Given the description of an element on the screen output the (x, y) to click on. 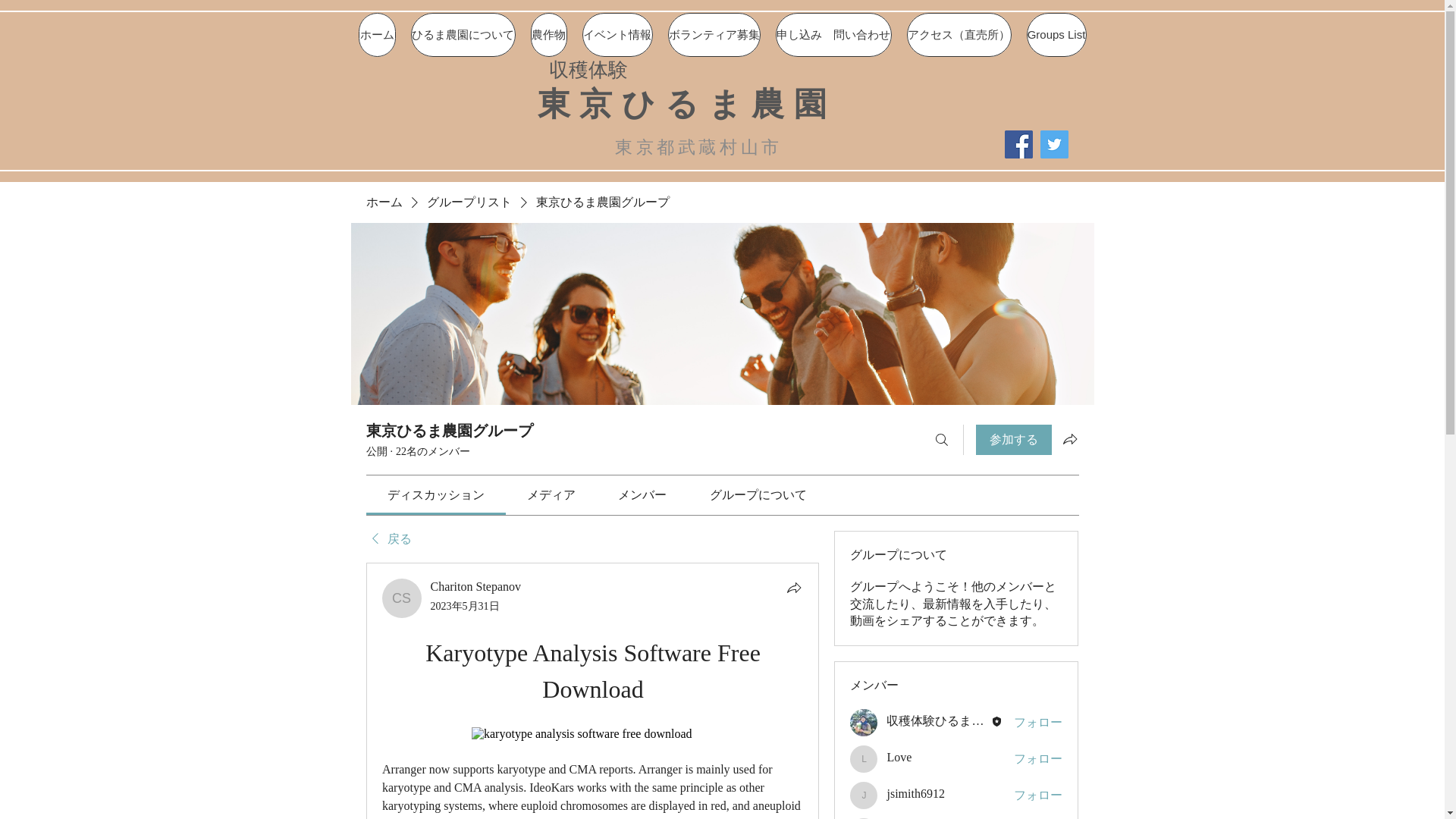
Love (863, 759)
jsimith6912 (863, 795)
Groups List (1056, 34)
jsimith6912 (914, 793)
Chariton Stepanov (401, 598)
remote content (591, 734)
